Given the description of an element on the screen output the (x, y) to click on. 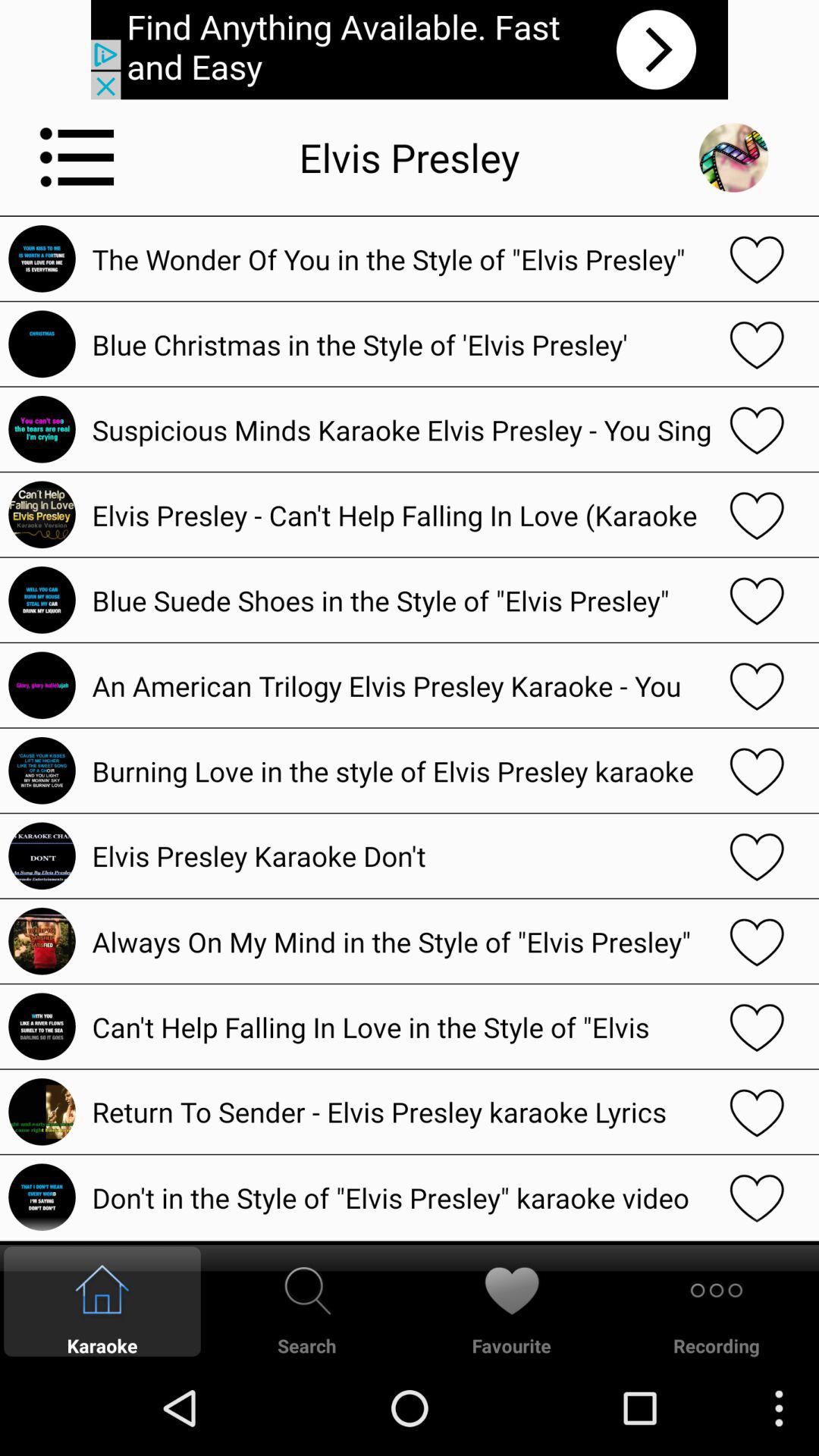
love selection (756, 514)
